Given the description of an element on the screen output the (x, y) to click on. 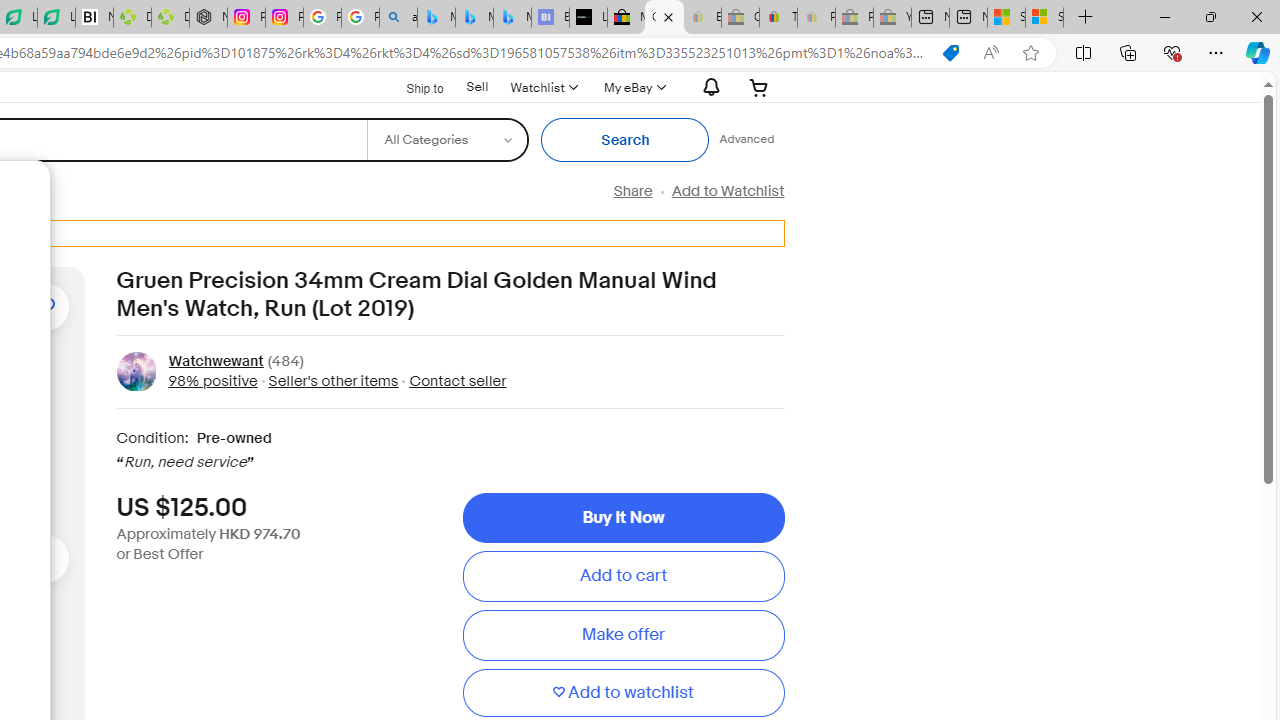
Add to watchlist (623, 692)
Select a category for search (447, 139)
98% positive (212, 380)
(484) (285, 361)
Add to cart (623, 576)
Ship to (412, 88)
Seller's other items (333, 380)
Share (632, 191)
Advanced Search (746, 139)
